Given the description of an element on the screen output the (x, y) to click on. 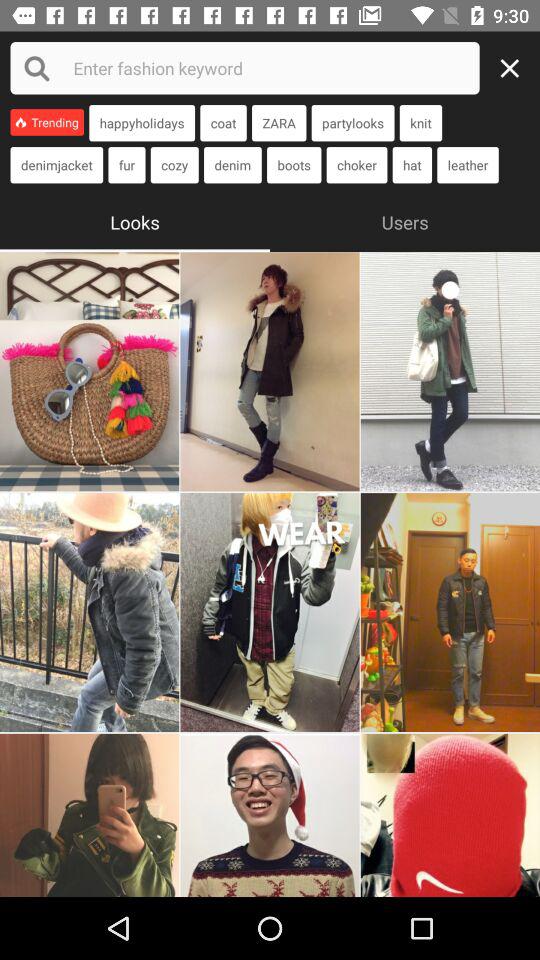
exit page (515, 68)
